Given the description of an element on the screen output the (x, y) to click on. 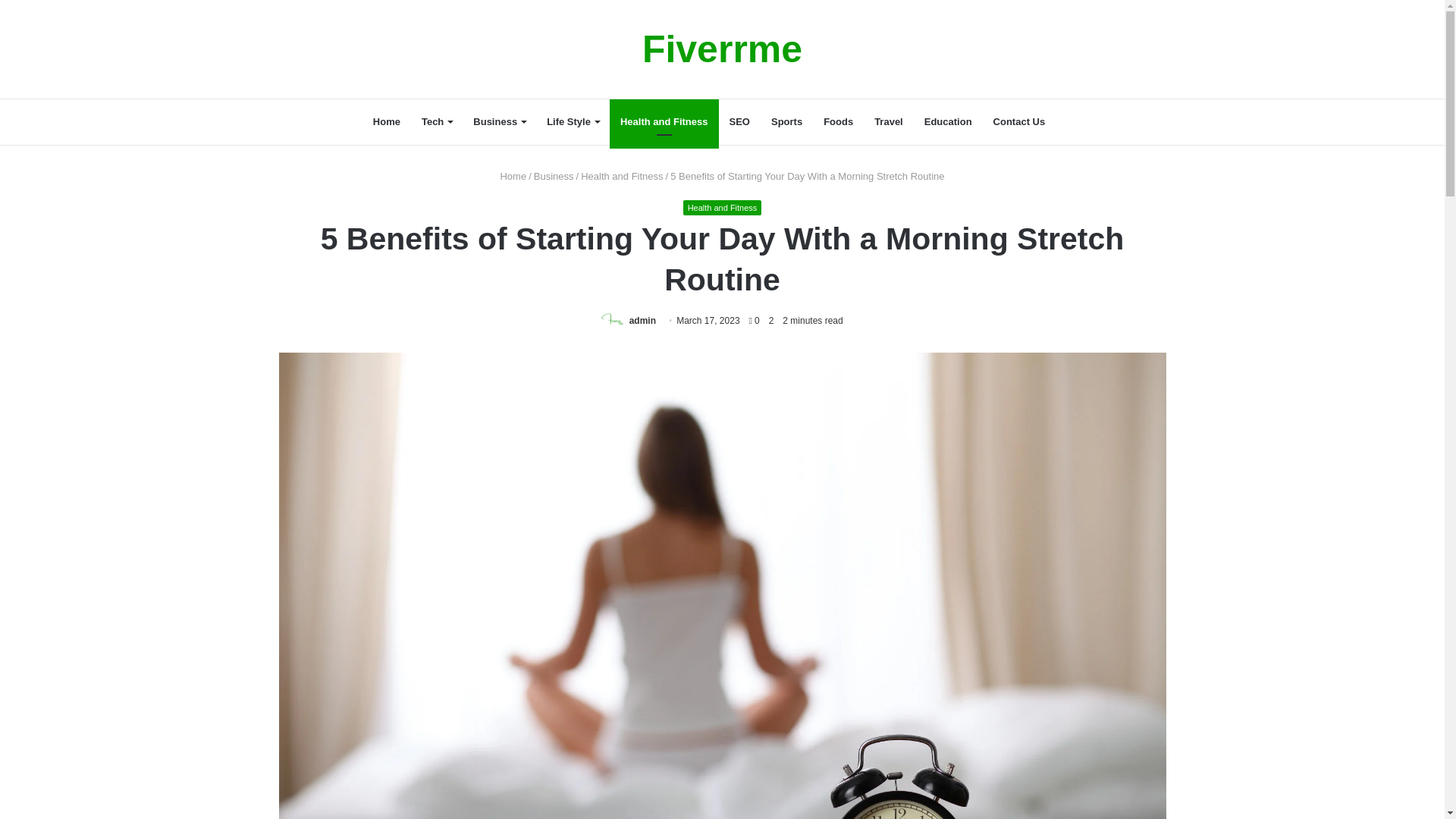
Home (512, 175)
Life Style (572, 121)
Fiverrme (722, 48)
Contact Us (1019, 121)
SEO (739, 121)
Business (553, 175)
admin (642, 320)
Sports (786, 121)
Health and Fitness (721, 207)
Travel (888, 121)
